Given the description of an element on the screen output the (x, y) to click on. 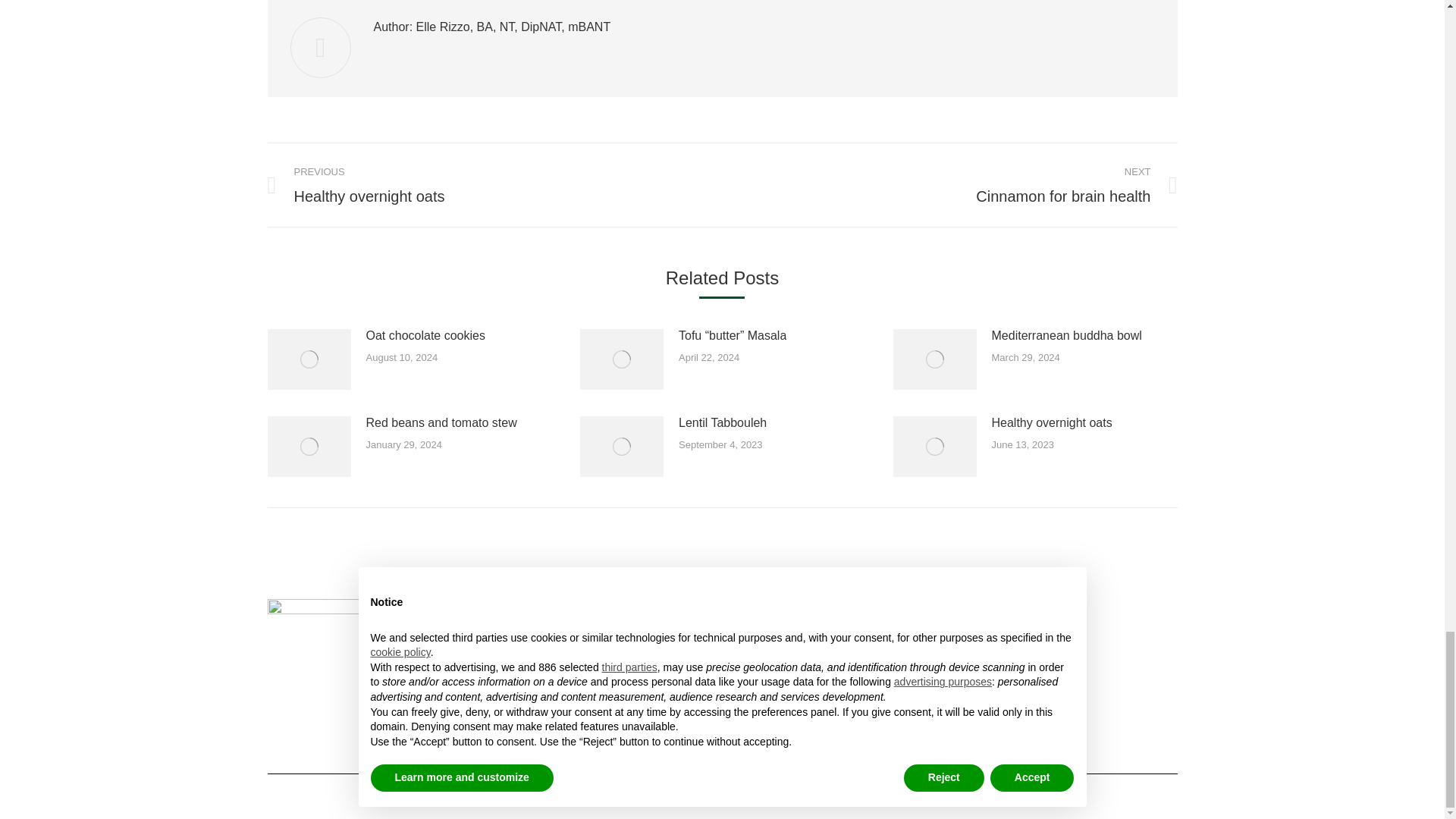
Linkedin page opens in new window (1012, 693)
Privacy Policy  (772, 790)
Facebook page opens in new window (988, 693)
Cookie Policy  (836, 790)
Instagram page opens in new window (1035, 693)
